Given the description of an element on the screen output the (x, y) to click on. 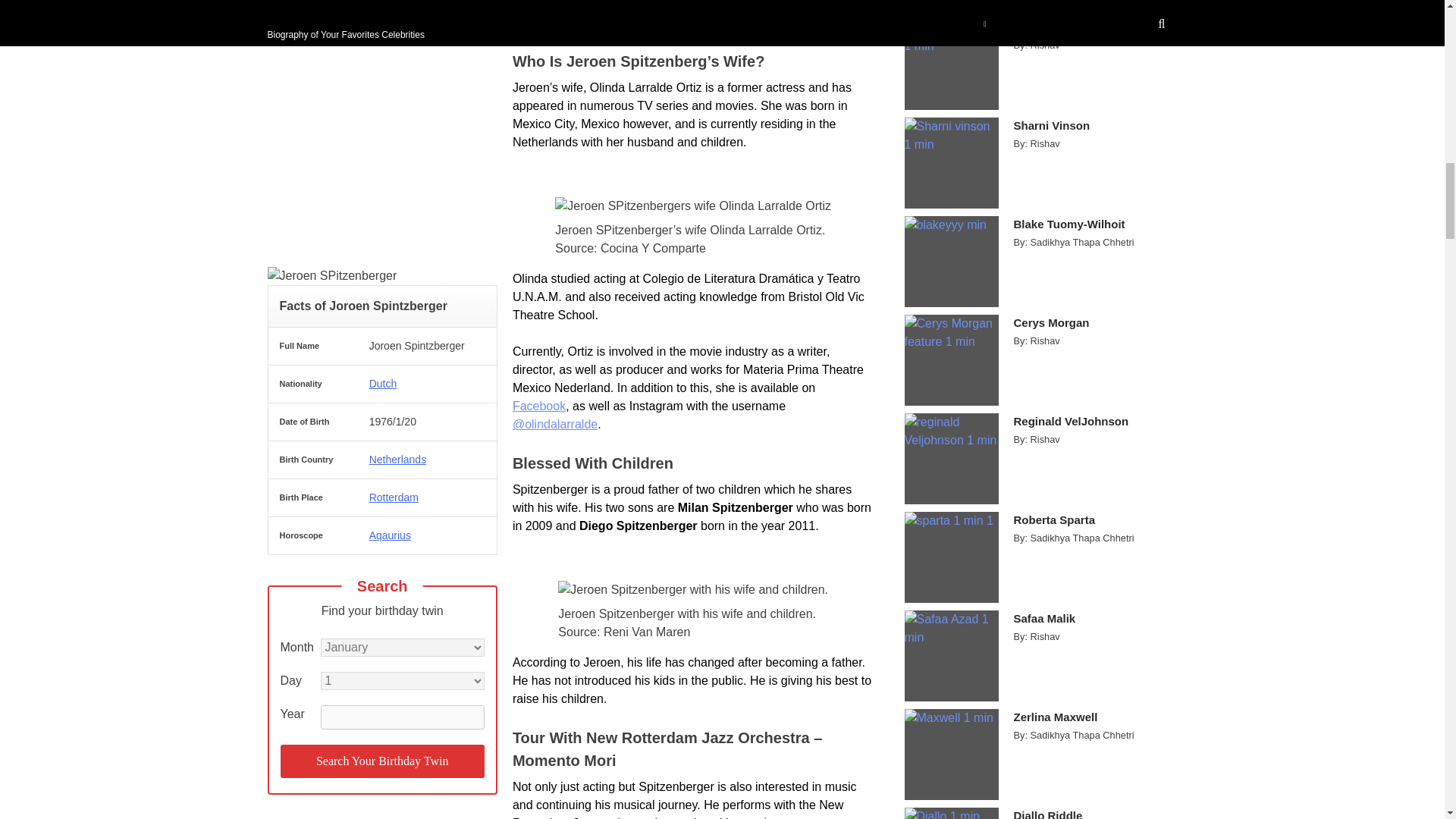
Facebook (539, 405)
Jeroen Spitzenberger 3 (692, 206)
Jeroen Spitzenberger 4 (692, 589)
